Given the description of an element on the screen output the (x, y) to click on. 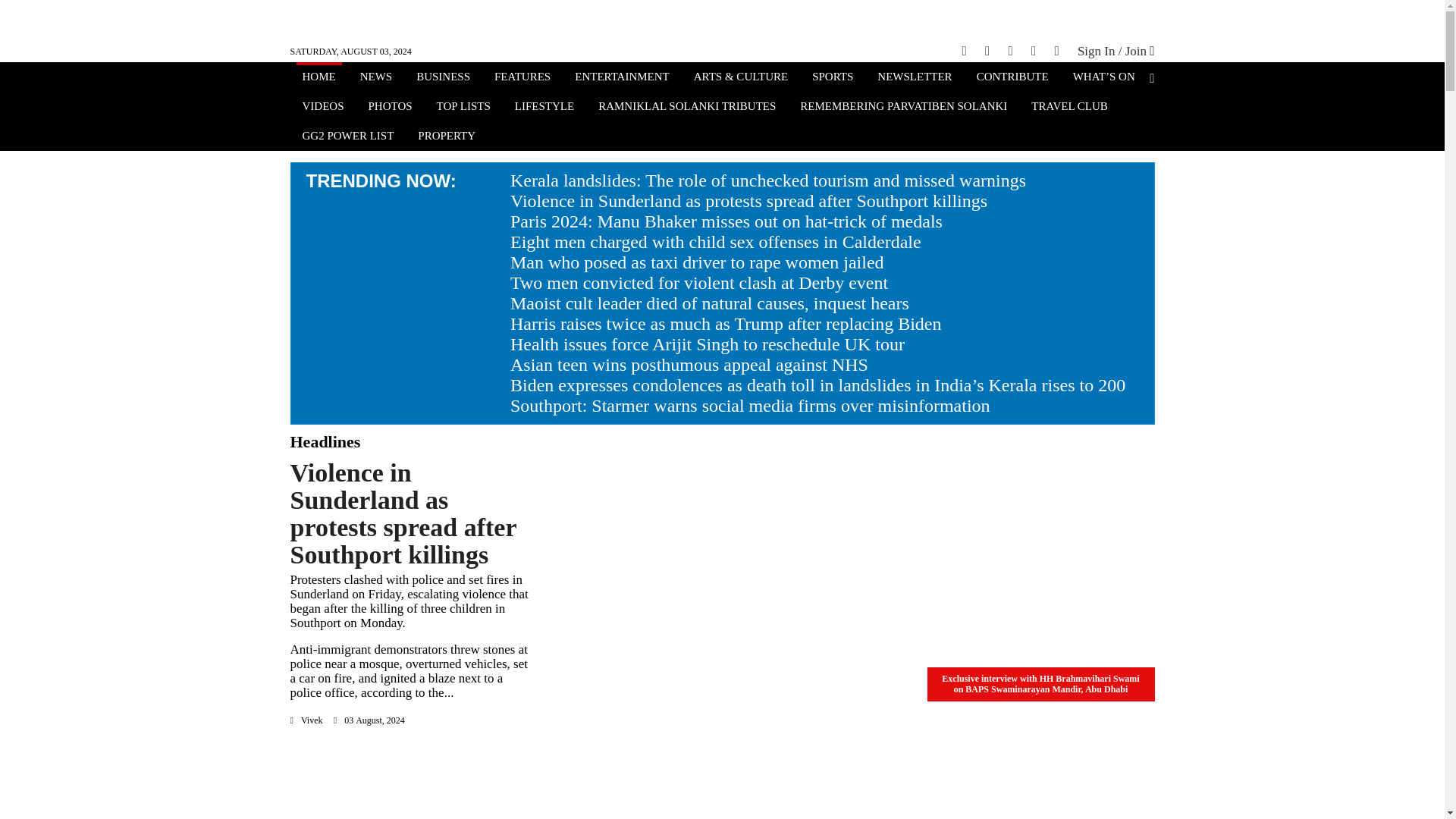
REMEMBERING PARVATIBEN SOLANKI (903, 108)
TOP LISTS (463, 108)
SPORTS (832, 78)
Maoist cult leader died of natural causes, inquest hears (709, 302)
ENTERTAINMENT (622, 78)
NEWSLETTER (914, 78)
Paris 2024: Manu Bhaker misses out on hat-trick of medals (726, 220)
BUSINESS (443, 78)
NEWS (375, 78)
Eight men charged with child sex offenses in Calderdale (716, 241)
HOME (317, 78)
Man who posed as taxi driver to rape women jailed (697, 261)
VIDEOS (322, 108)
Harris raises twice as much as Trump after replacing Biden (726, 323)
